Given the description of an element on the screen output the (x, y) to click on. 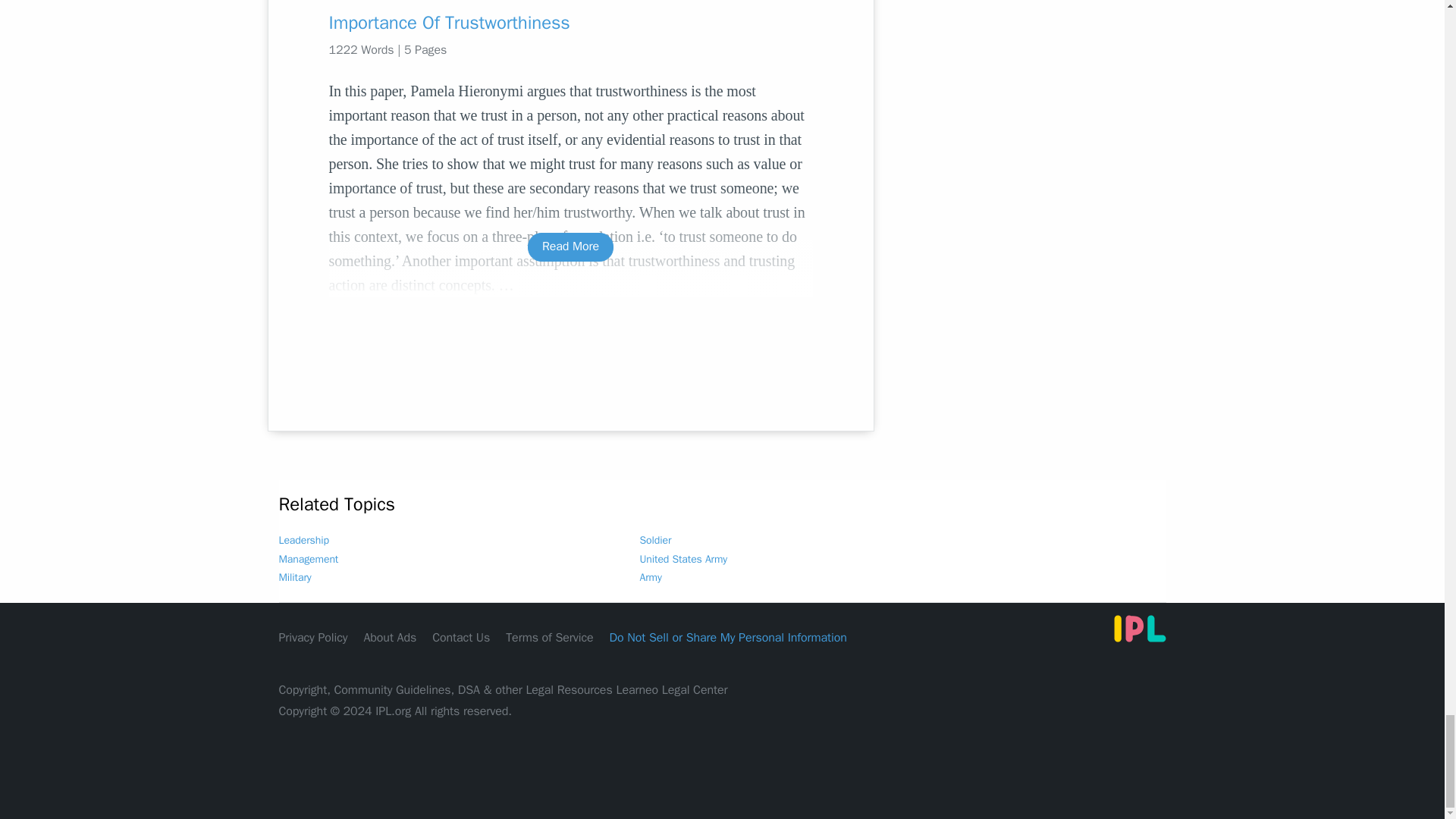
Leadership (304, 540)
About Ads (389, 637)
Contact Us (460, 637)
Terms of Service (548, 637)
Management (309, 558)
Privacy Policy (313, 637)
United States Army (684, 558)
Soldier (655, 540)
Army (651, 576)
Military (295, 576)
